Given the description of an element on the screen output the (x, y) to click on. 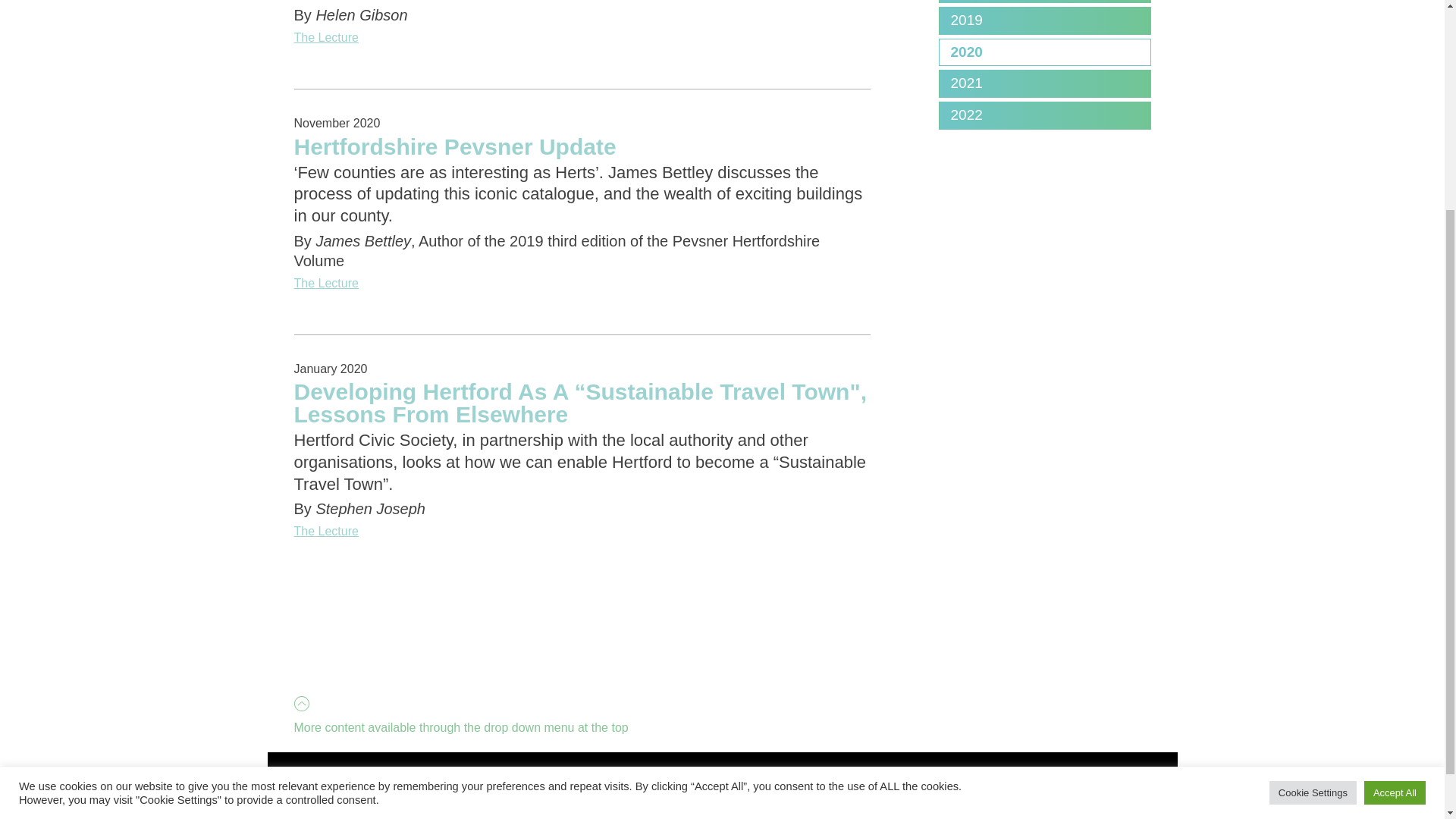
The Lecture (582, 283)
2022 (1044, 115)
Cookie Settings (1312, 503)
2023 (1044, 1)
The Lecture (582, 531)
Join us (531, 800)
2020 (1044, 52)
2021 (1044, 83)
2019 (1044, 20)
The Lecture (582, 37)
More content available through the drop down menu at the top (459, 667)
Accept All (1394, 503)
